Given the description of an element on the screen output the (x, y) to click on. 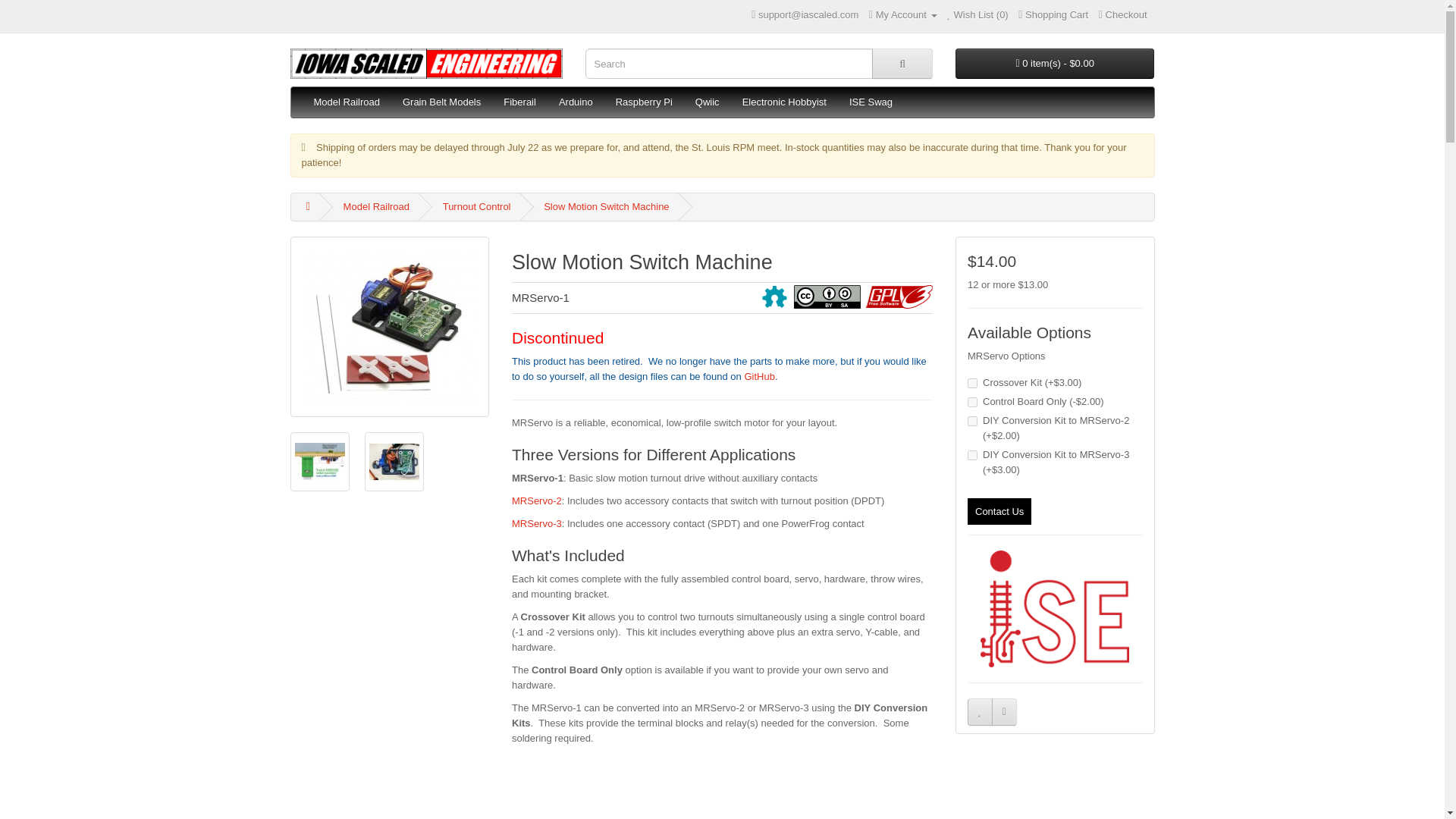
Model Railroad (345, 101)
Slow Motion Switch Machine (318, 461)
Slow Motion Switch Machine (393, 461)
Shopping Cart (1052, 14)
Iowa Scaled Engineering (425, 63)
Fiberail (519, 101)
Slow Motion Switch Machine (389, 326)
Grain Belt Models (441, 101)
18 (972, 402)
17 (972, 383)
My Account (903, 14)
Slow Motion Switch Machine (389, 326)
Slow Motion Switch Machine (393, 461)
Shopping Cart (1052, 14)
My Account (903, 14)
